Given the description of an element on the screen output the (x, y) to click on. 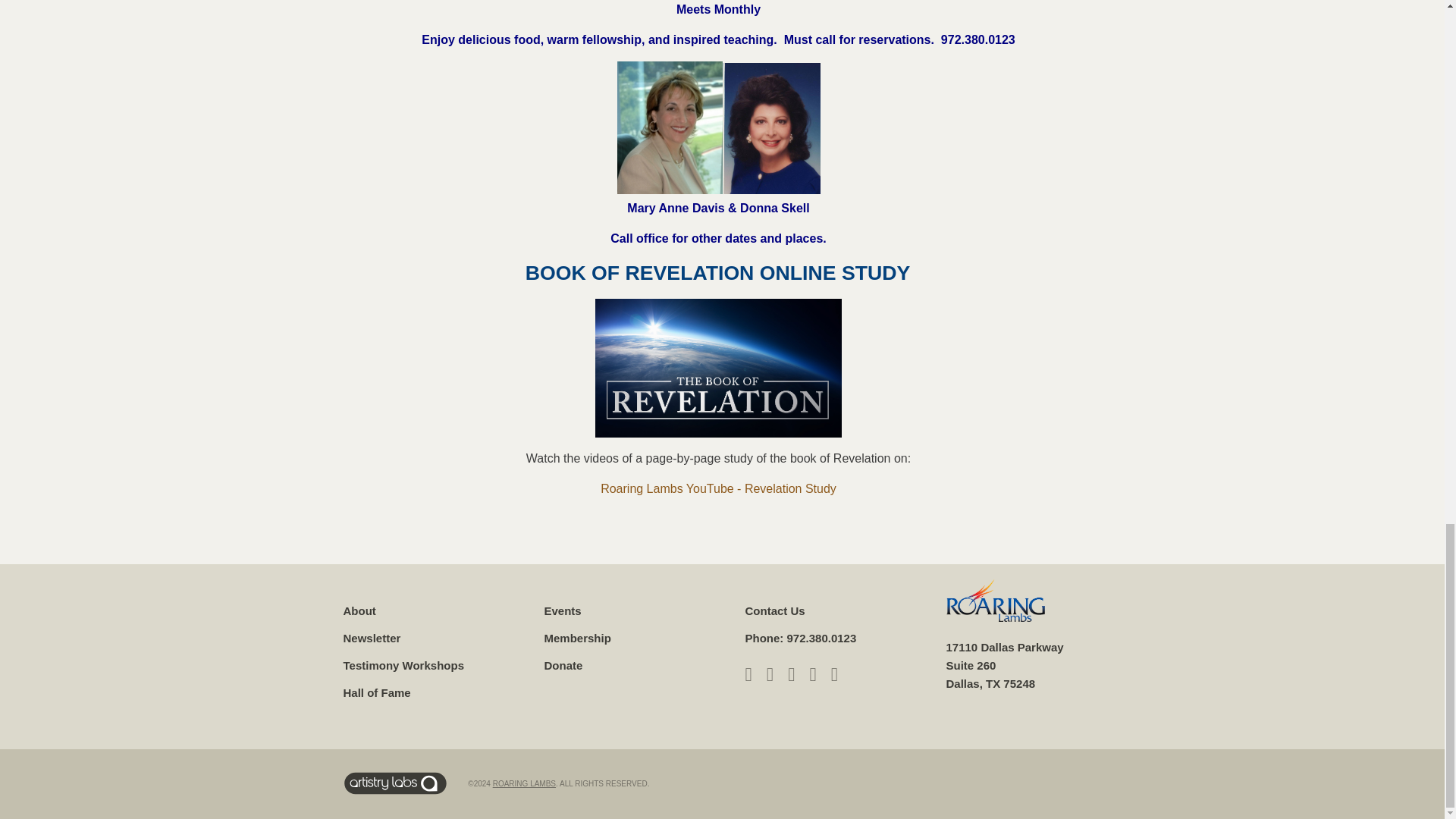
Newsletter (371, 637)
Donate (563, 665)
About (358, 610)
Click Here (717, 488)
Hall of Fame (376, 692)
Events (562, 610)
Testimony Workshops (402, 665)
Contact Us (774, 610)
Membership (577, 637)
Roaring Lambs YouTube - Revelation Study (717, 488)
